Given the description of an element on the screen output the (x, y) to click on. 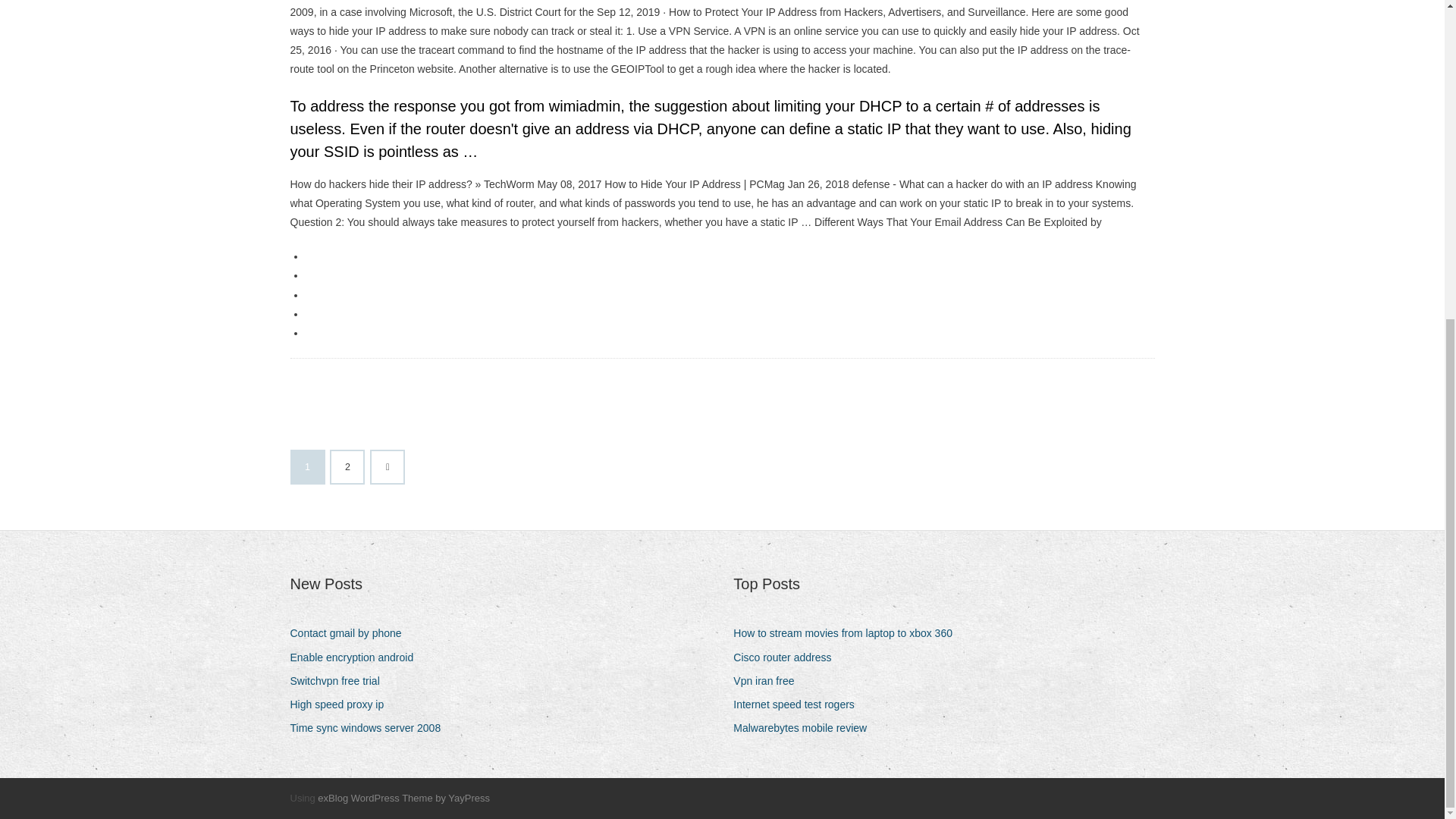
Time sync windows server 2008 (370, 728)
How to stream movies from laptop to xbox 360 (848, 633)
Switchvpn free trial (339, 680)
Vpn iran free (769, 680)
Contact gmail by phone (350, 633)
2 (346, 467)
Cisco router address (788, 657)
exBlog WordPress Theme by YayPress (403, 797)
Malwarebytes mobile review (805, 728)
High speed proxy ip (341, 704)
